Given the description of an element on the screen output the (x, y) to click on. 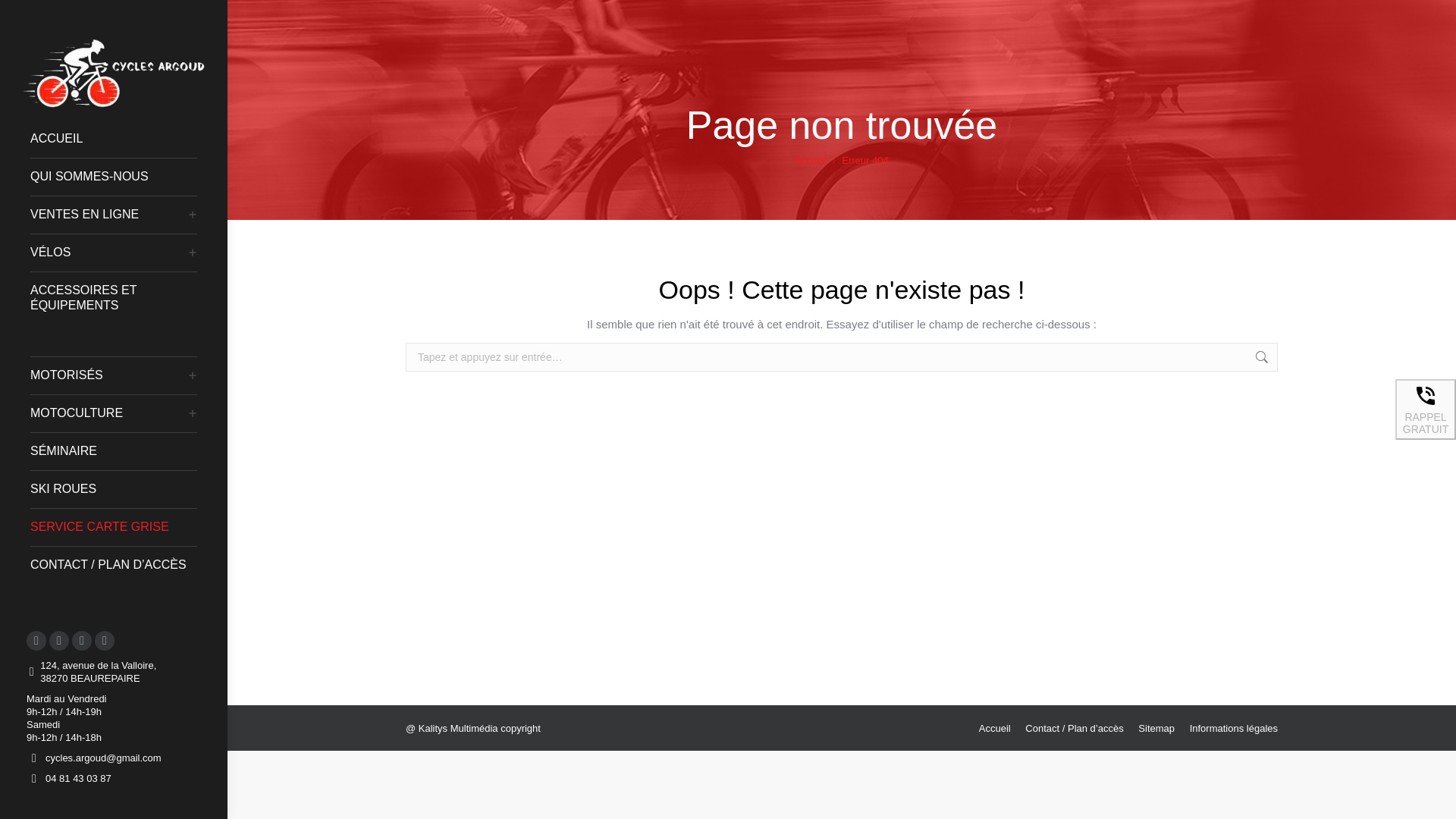
SERVICE CARTE GRISE (121, 526)
MOTOCULTURE (111, 412)
ventes-en-ligne (111, 214)
QUI SOMMES-NOUS (121, 176)
velos (111, 252)
service-carte-grise (121, 526)
Aller ! (1308, 359)
SKI ROUES (121, 488)
ACCUEIL (121, 138)
VENTES EN LIGNE (111, 214)
